Given the description of an element on the screen output the (x, y) to click on. 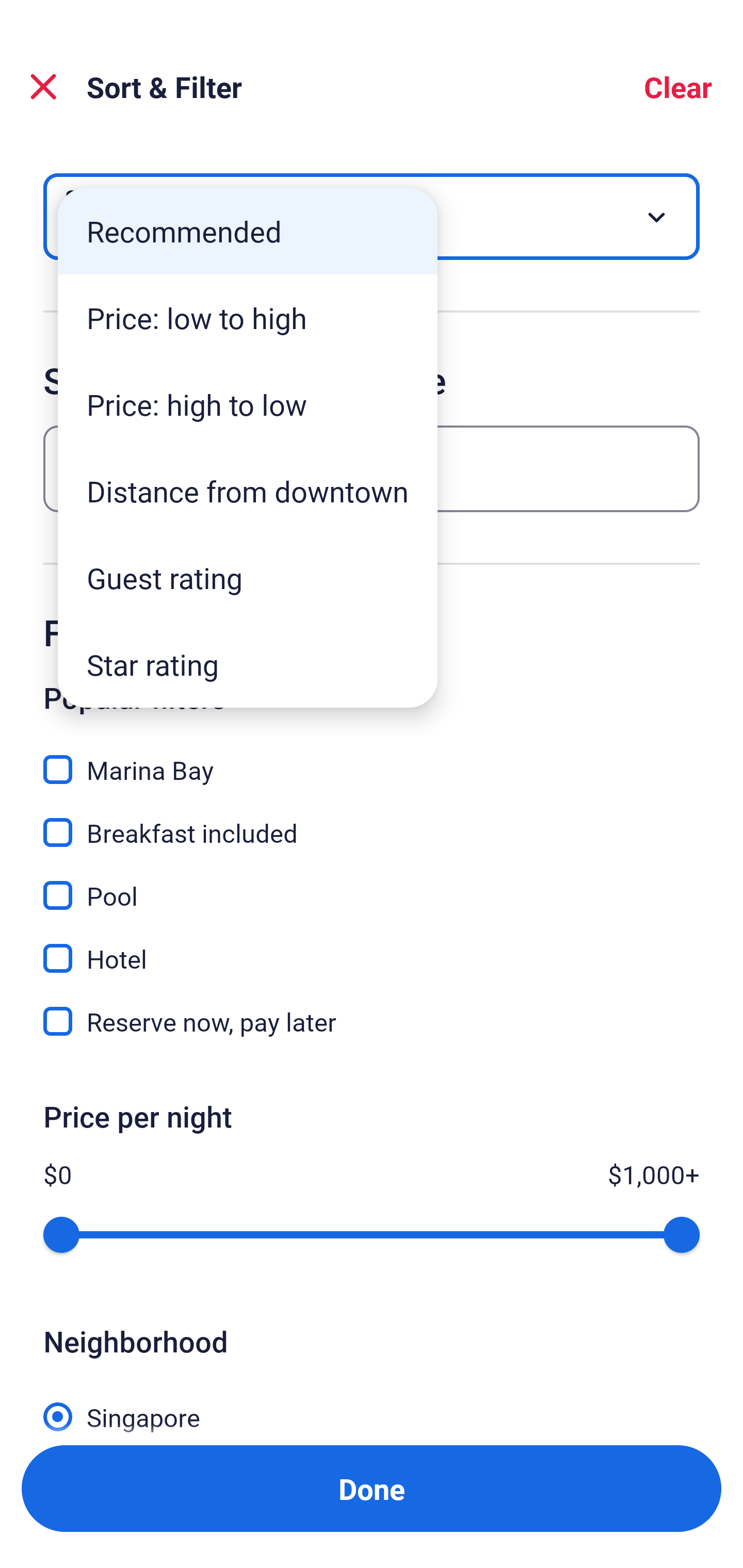
Price: low to high (247, 317)
Price: high to low (247, 404)
Distance from downtown (247, 491)
Guest rating (247, 577)
Star rating (247, 663)
